Given the description of an element on the screen output the (x, y) to click on. 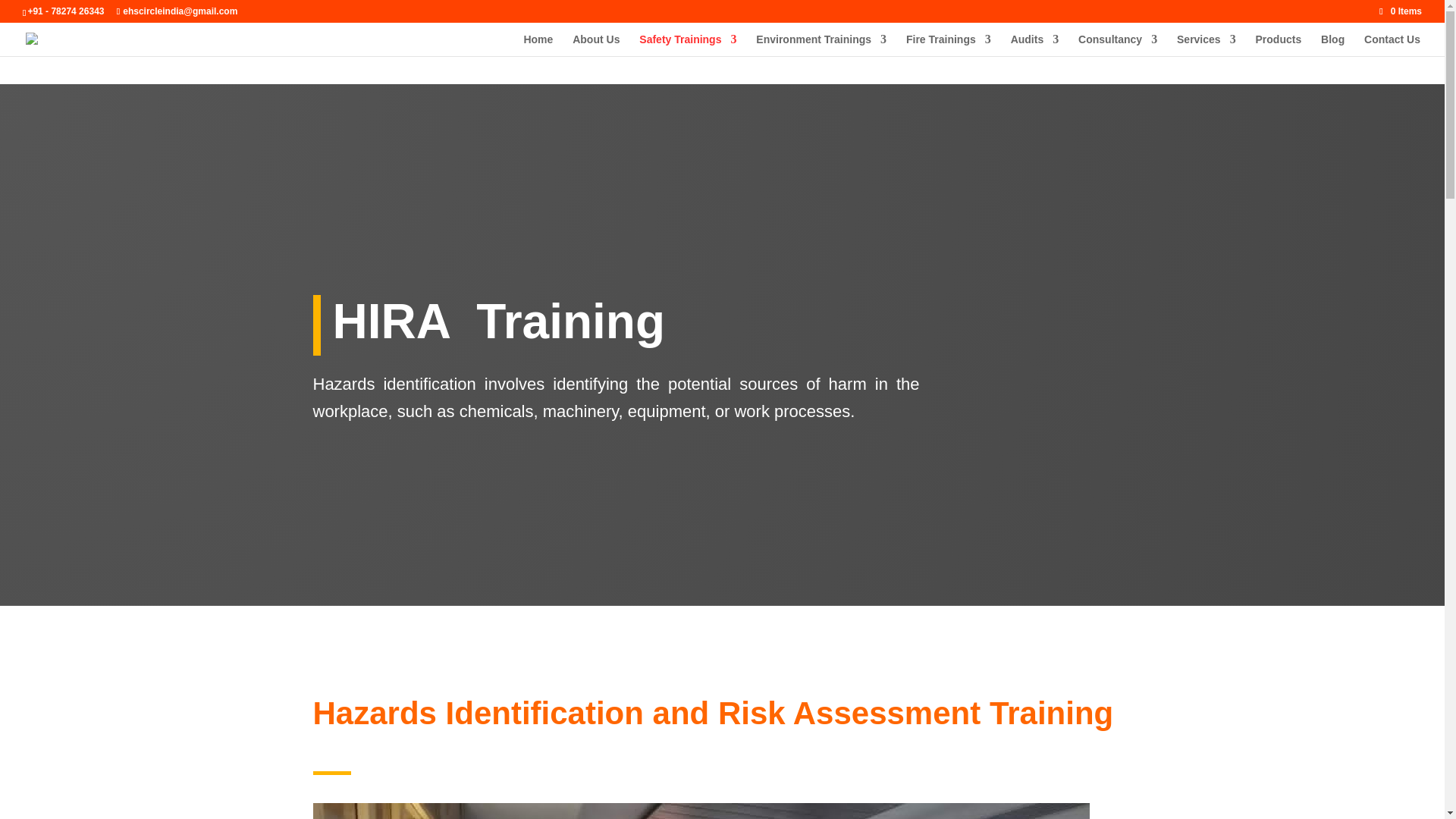
0 Items (1400, 10)
Safety Trainings (687, 45)
Home (537, 45)
Environment Trainings (820, 45)
About Us (596, 45)
